Given the description of an element on the screen output the (x, y) to click on. 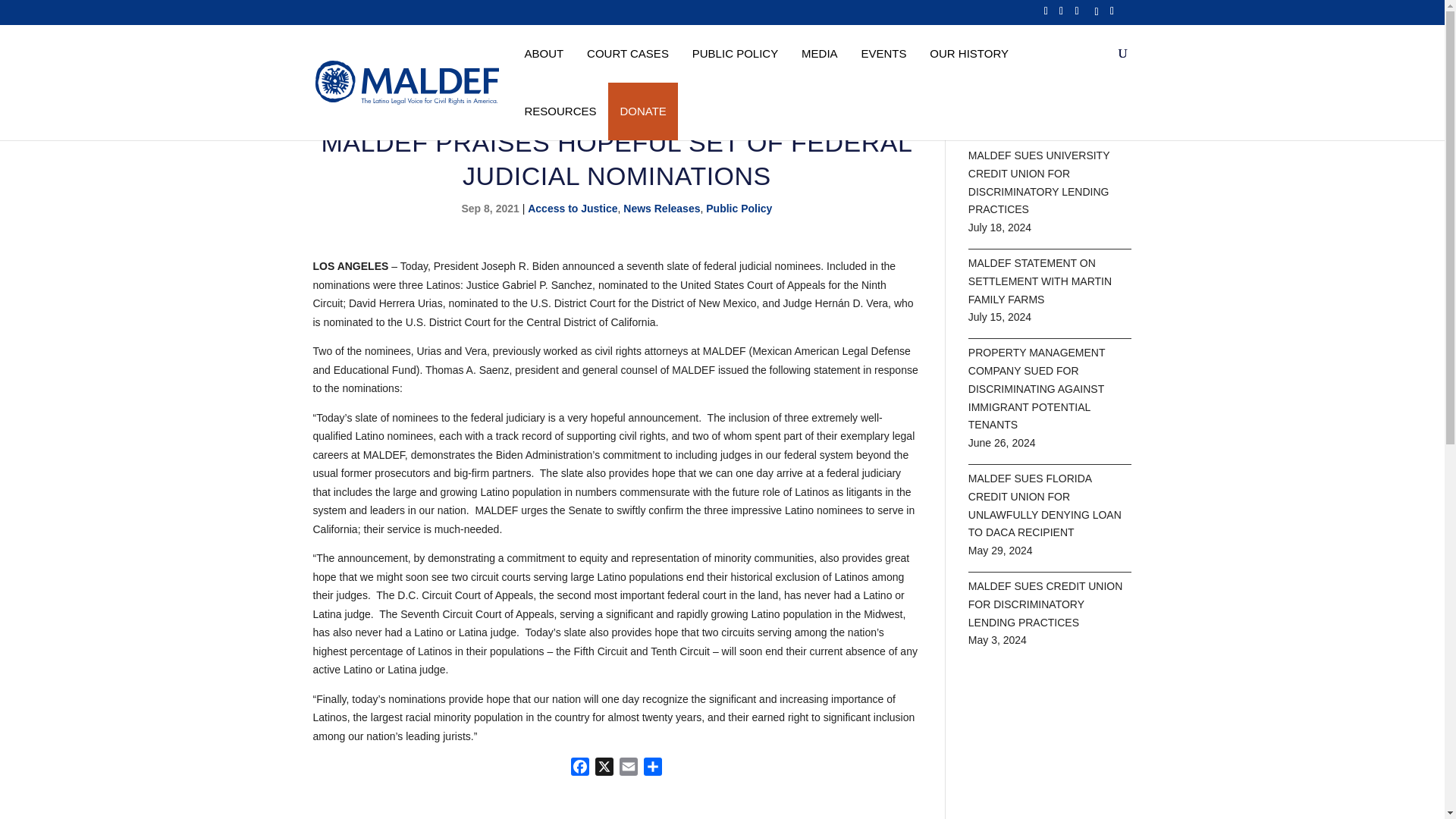
Email (627, 769)
PUBLIC POLICY (735, 52)
X (603, 769)
RESOURCES (559, 110)
COURT CASES (627, 52)
Facebook (579, 769)
ABOUT (543, 52)
EVENTS (882, 52)
OUR HISTORY (969, 52)
MEDIA (819, 52)
